Given the description of an element on the screen output the (x, y) to click on. 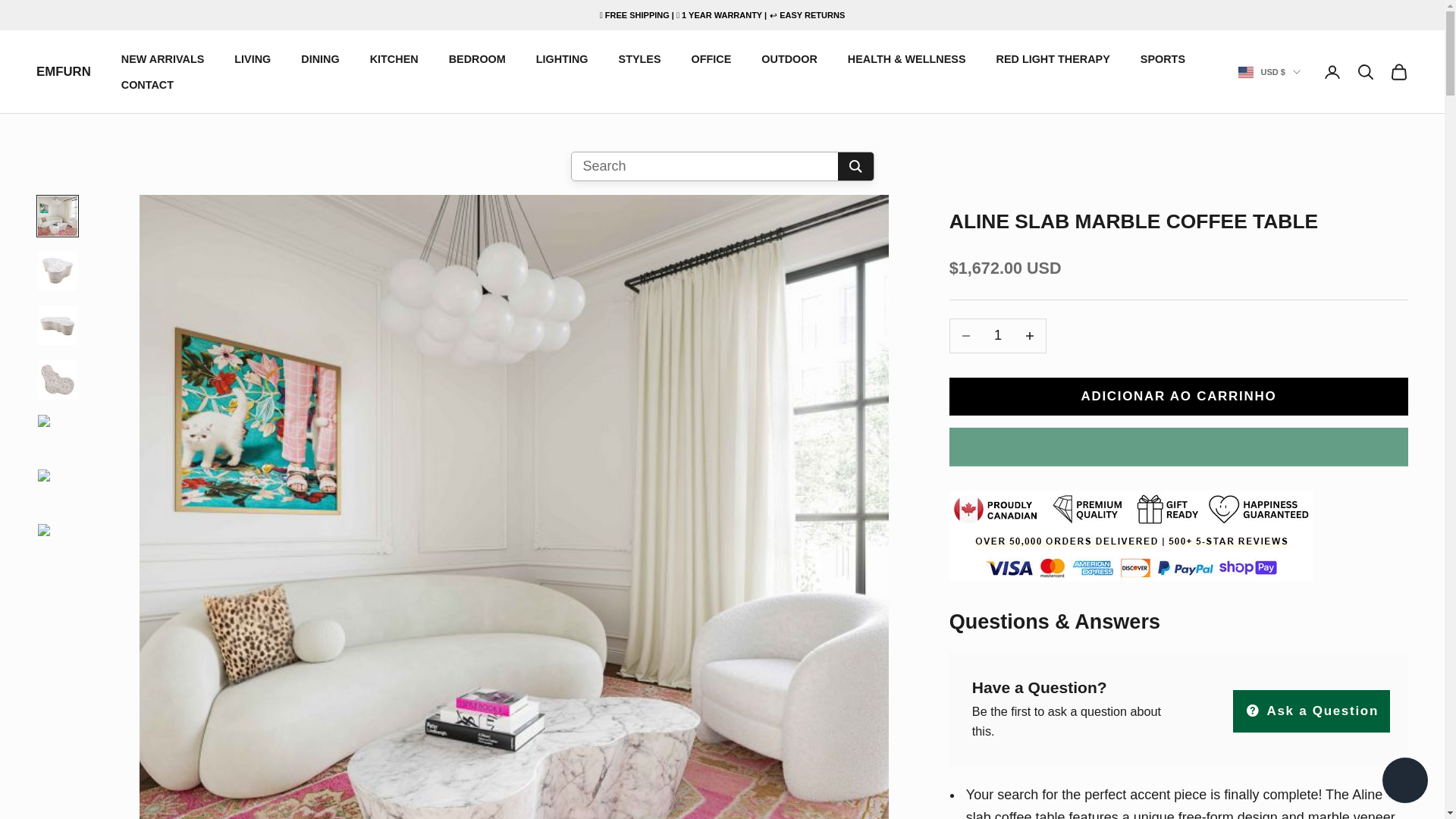
Chat da loja virtual da Shopify (1404, 781)
1 (997, 335)
NEW ARRIVALS (162, 58)
EMFURN (63, 72)
